Given the description of an element on the screen output the (x, y) to click on. 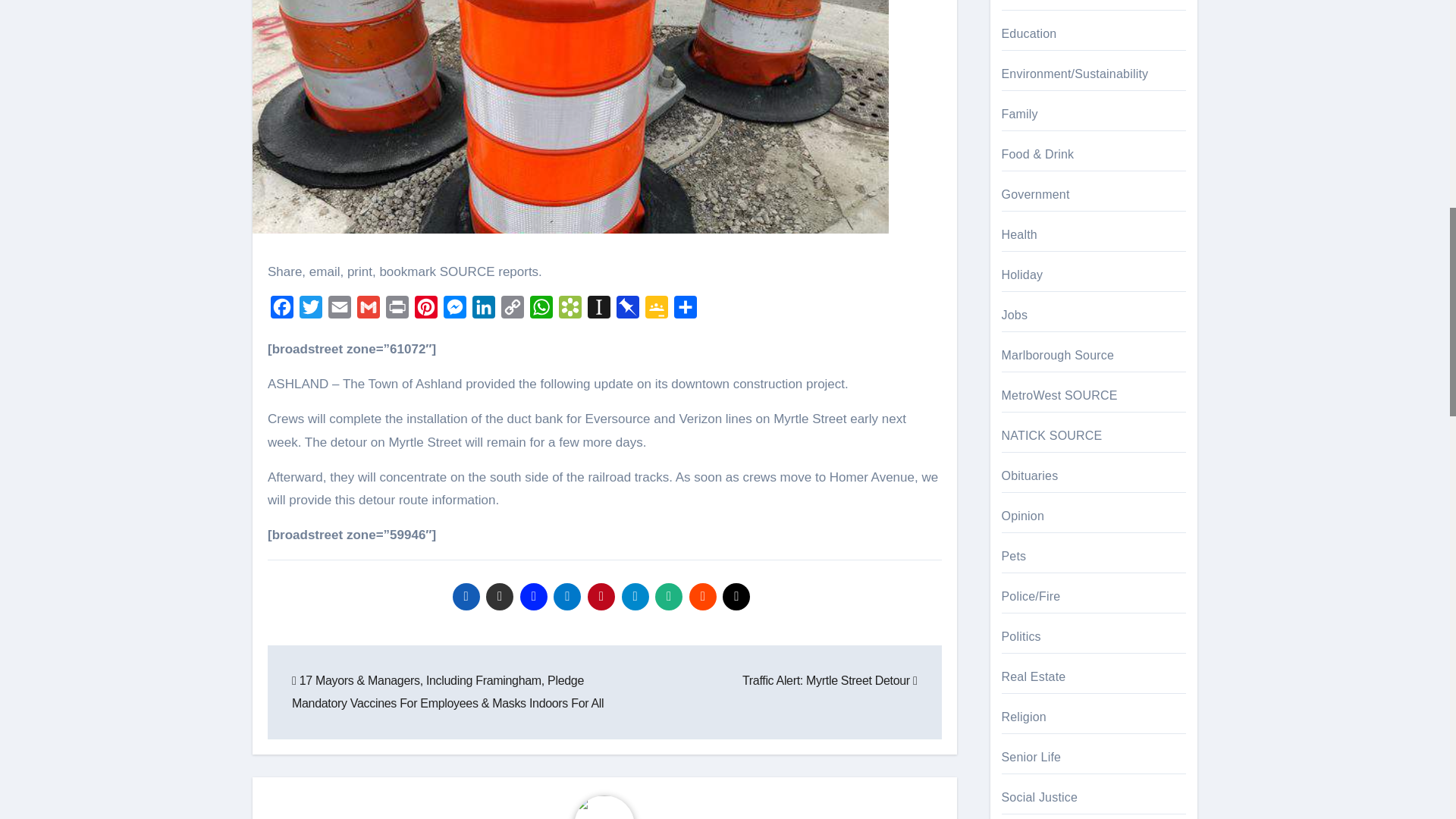
Twitter (310, 310)
Twitter (310, 310)
Facebook (282, 310)
Facebook (282, 310)
